Given the description of an element on the screen output the (x, y) to click on. 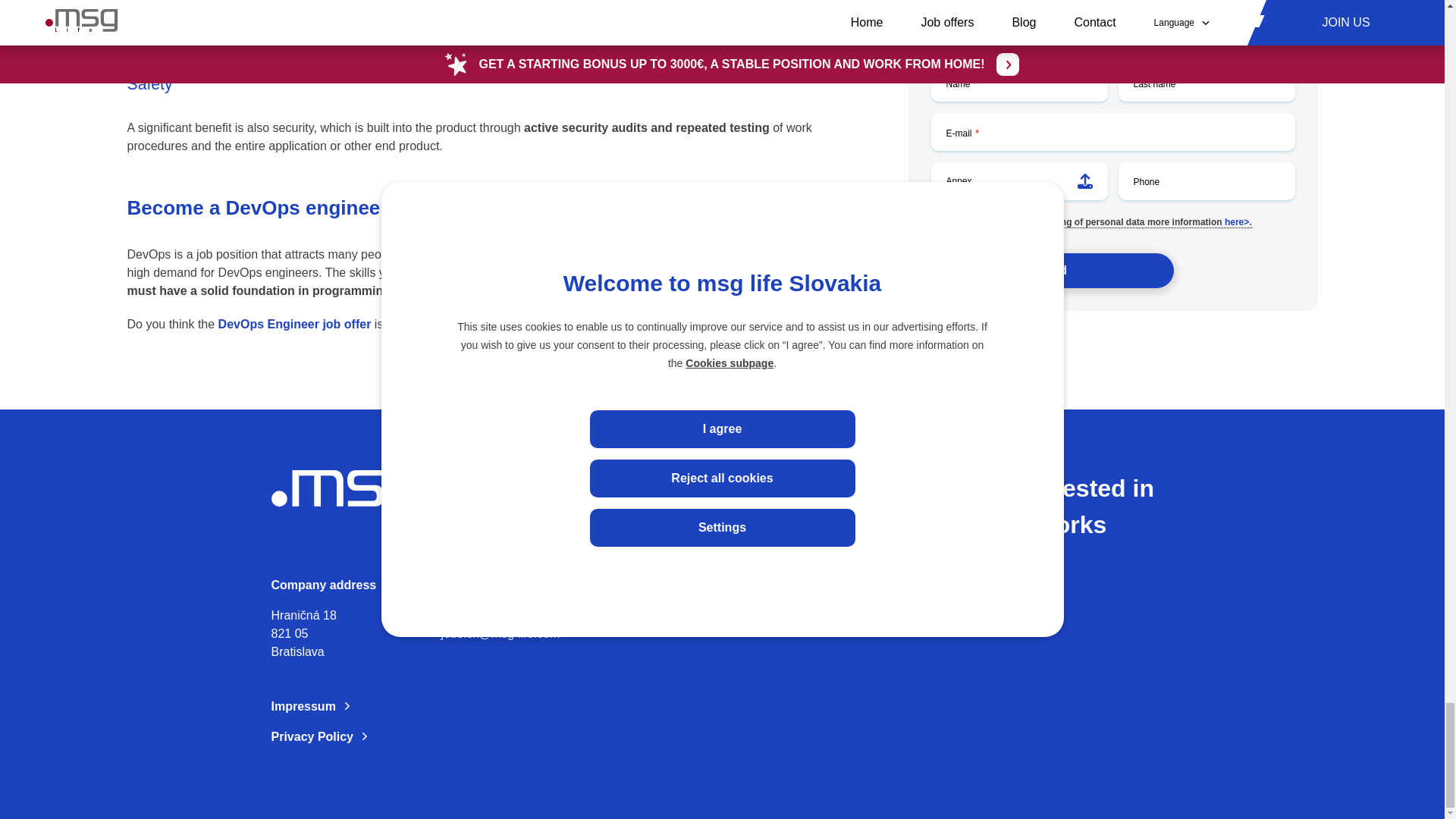
DevOps Engineer job offer (294, 323)
Impressum (415, 706)
Privacy Policy (415, 737)
